Given the description of an element on the screen output the (x, y) to click on. 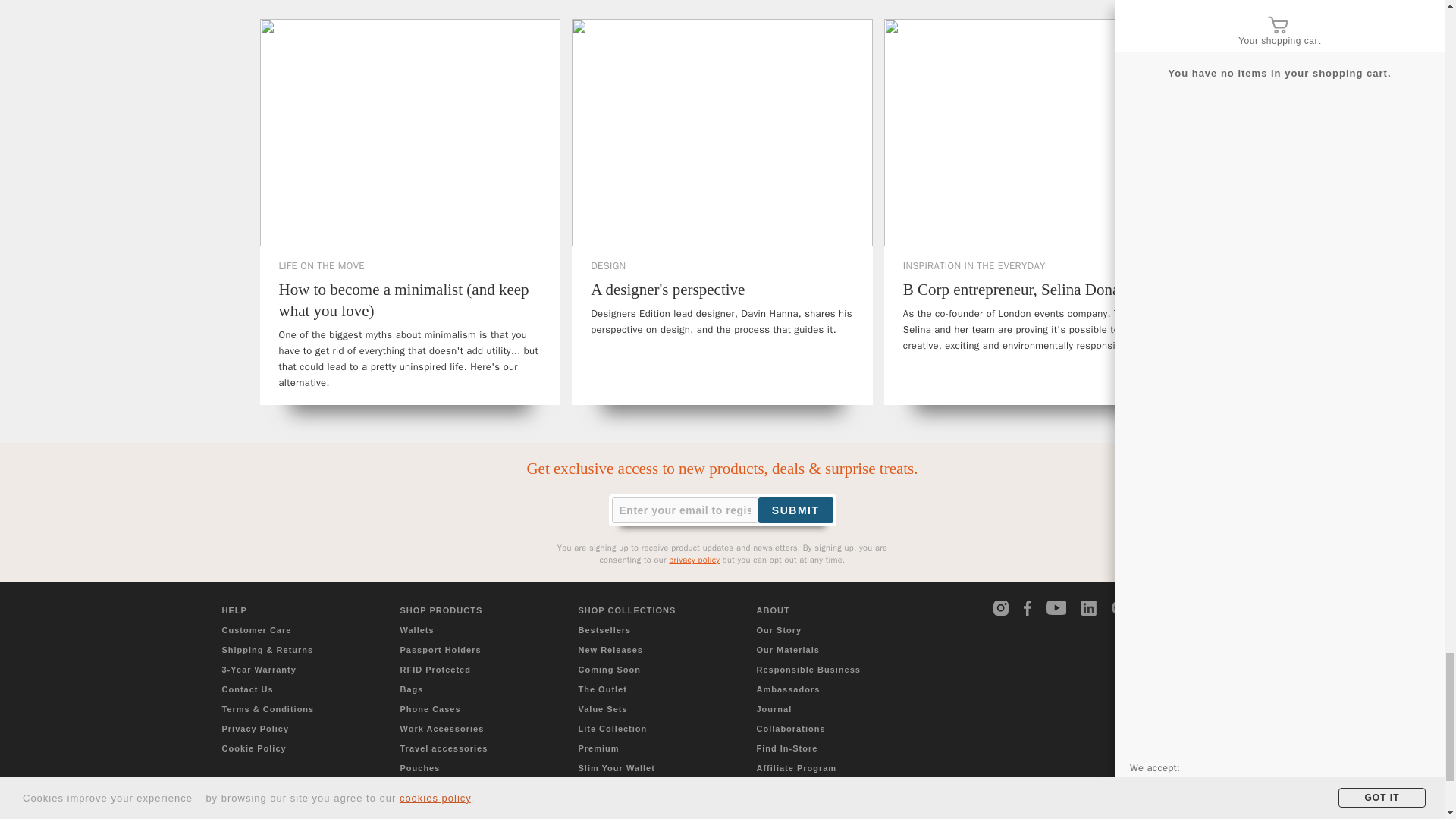
YouTube (1056, 607)
LinkedIn (1088, 607)
Pinterest (1119, 607)
Facebook (1031, 607)
TikTok (1149, 607)
Instagram (1000, 607)
